Given the description of an element on the screen output the (x, y) to click on. 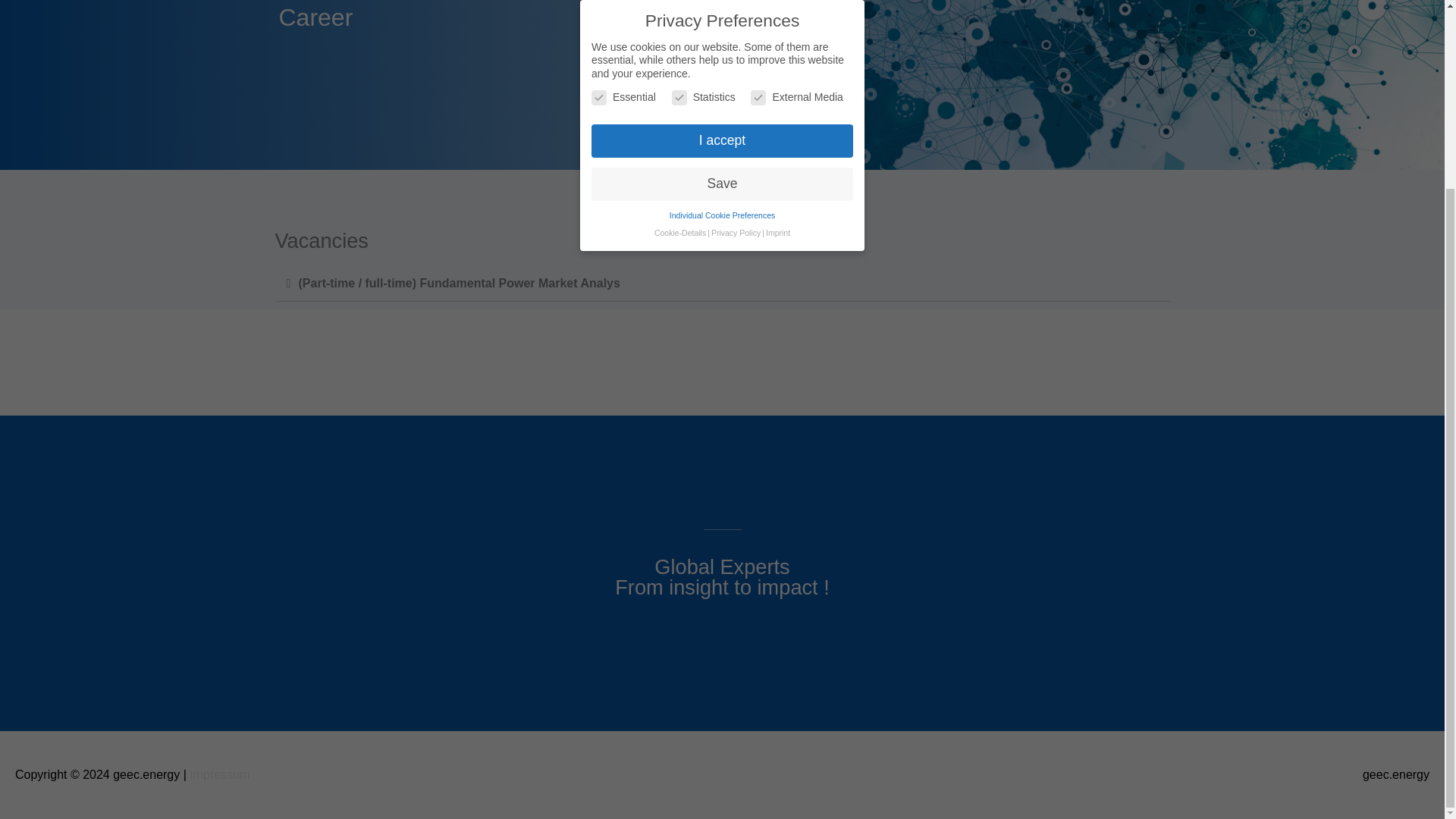
Impressum (218, 774)
Imprint (777, 1)
Cookie-Details (679, 1)
Privacy Policy (735, 1)
